Given the description of an element on the screen output the (x, y) to click on. 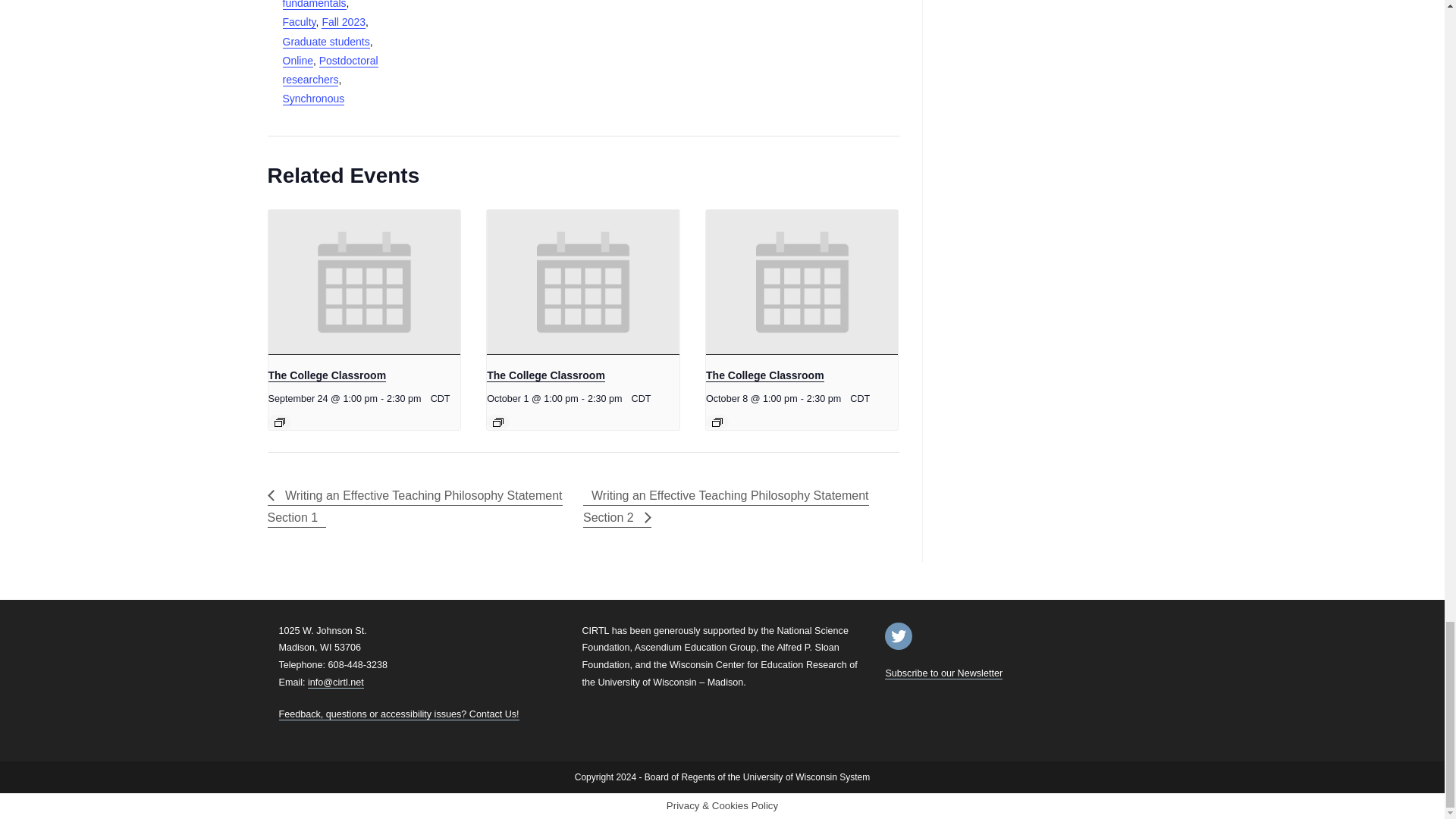
Event Series (498, 421)
Event Series (280, 421)
Event Series (716, 421)
